Given the description of an element on the screen output the (x, y) to click on. 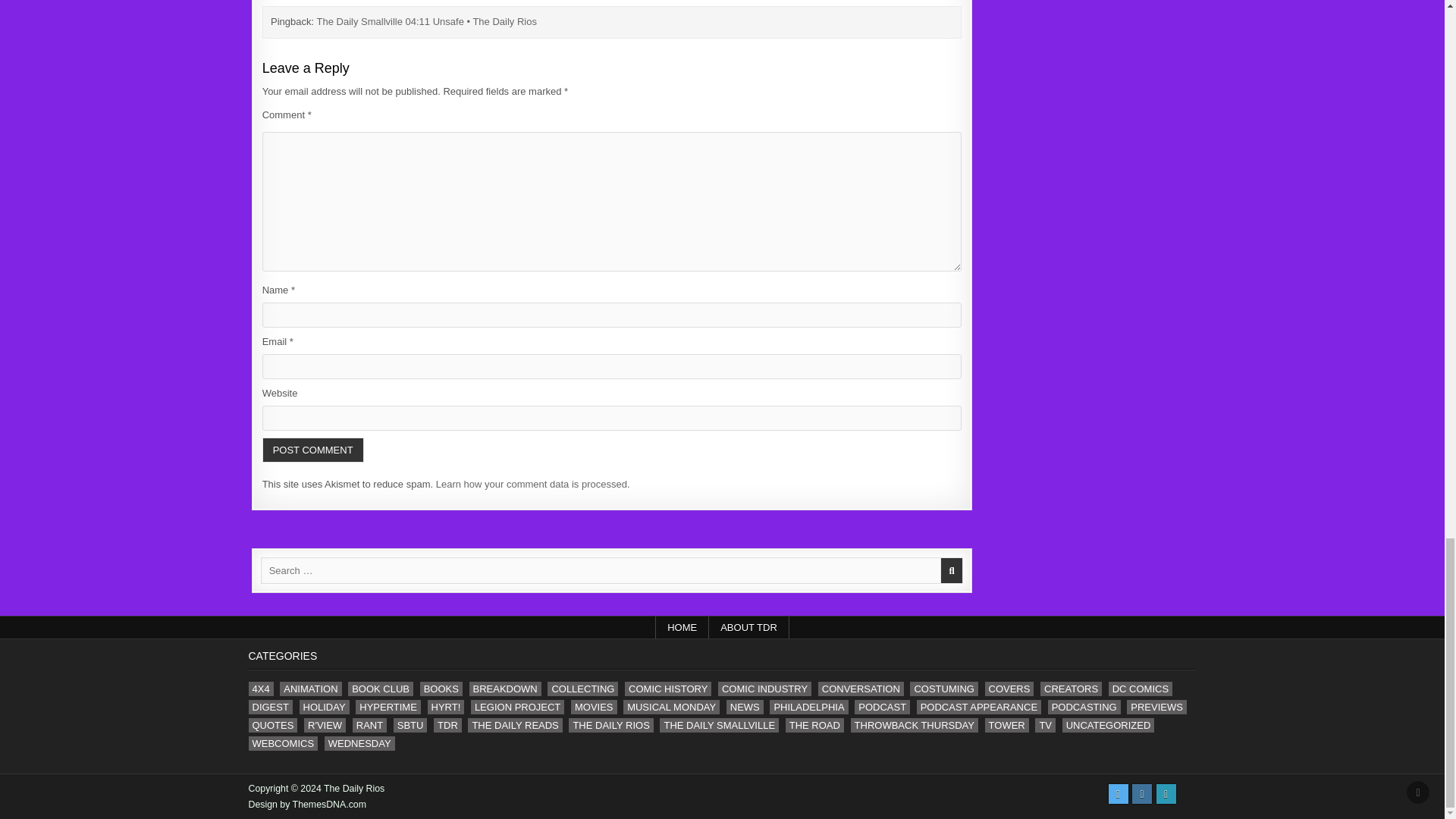
ANIMATION (309, 688)
BOOKS (441, 688)
HOME (682, 627)
Learn how your comment data is processed (531, 483)
Post Comment (313, 449)
4X4 (260, 688)
BOOK CLUB (380, 688)
ABOUT TDR (749, 627)
COVERS (1009, 688)
CREATORS (1071, 688)
COMIC INDUSTRY (763, 688)
BREAKDOWN (504, 688)
COMIC HISTORY (667, 688)
COSTUMING (943, 688)
COLLECTING (582, 688)
